Given the description of an element on the screen output the (x, y) to click on. 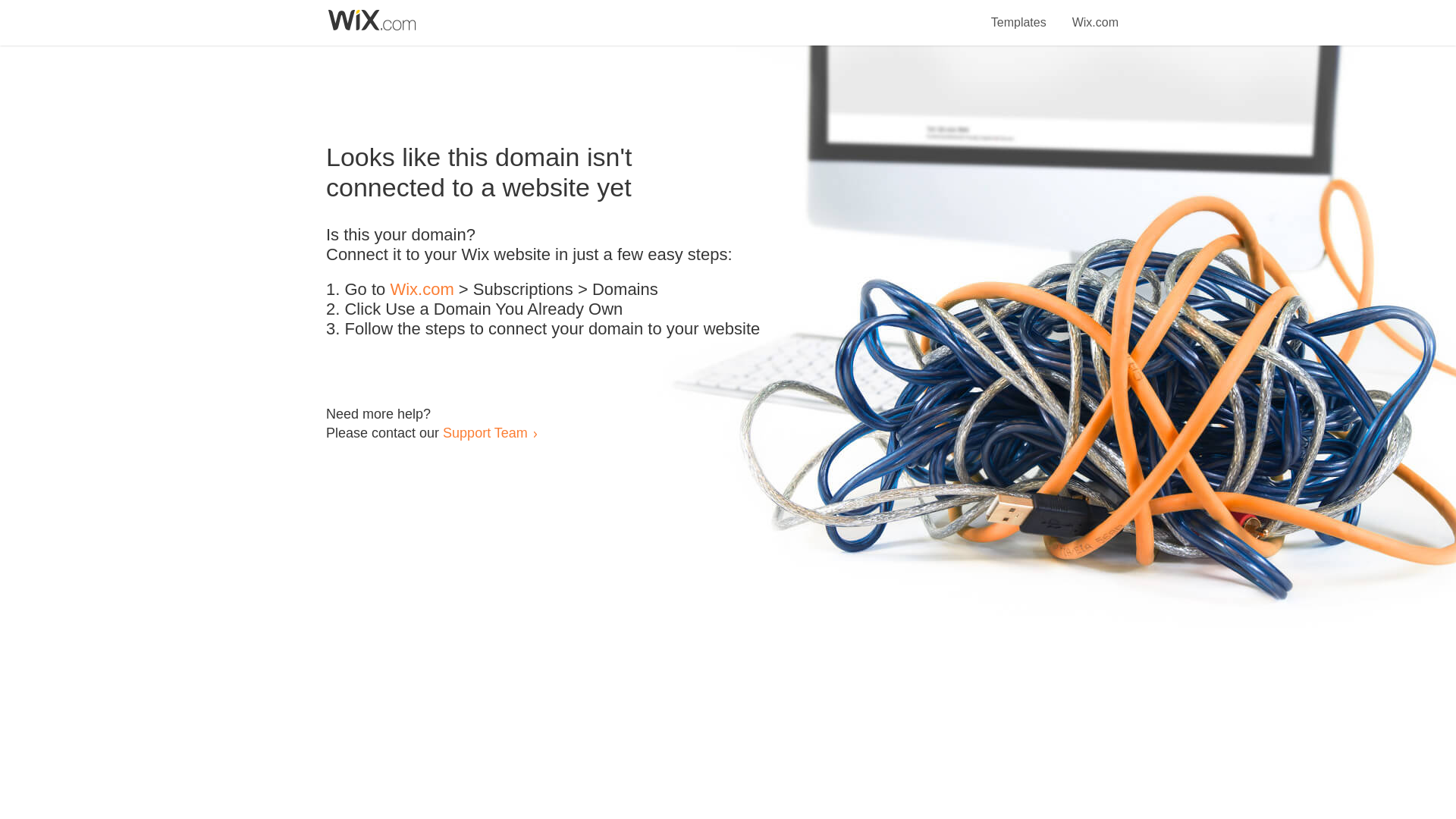
Wix.com (421, 289)
Support Team (484, 432)
Wix.com (1095, 14)
Templates (1018, 14)
